Given the description of an element on the screen output the (x, y) to click on. 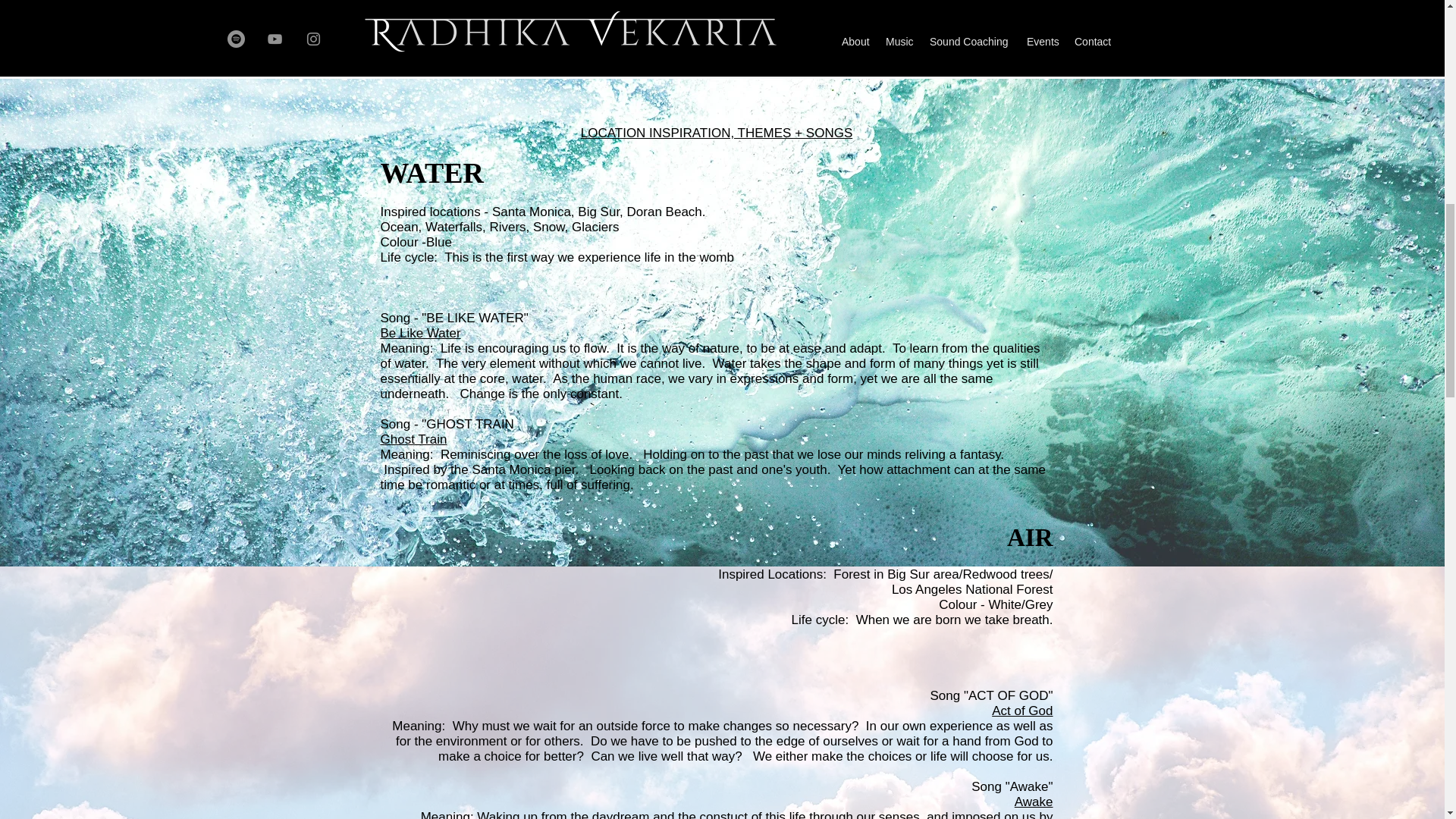
Be Like Water (420, 332)
Ghost Train (413, 439)
Awake (1033, 801)
Act of God (1021, 710)
